Given the description of an element on the screen output the (x, y) to click on. 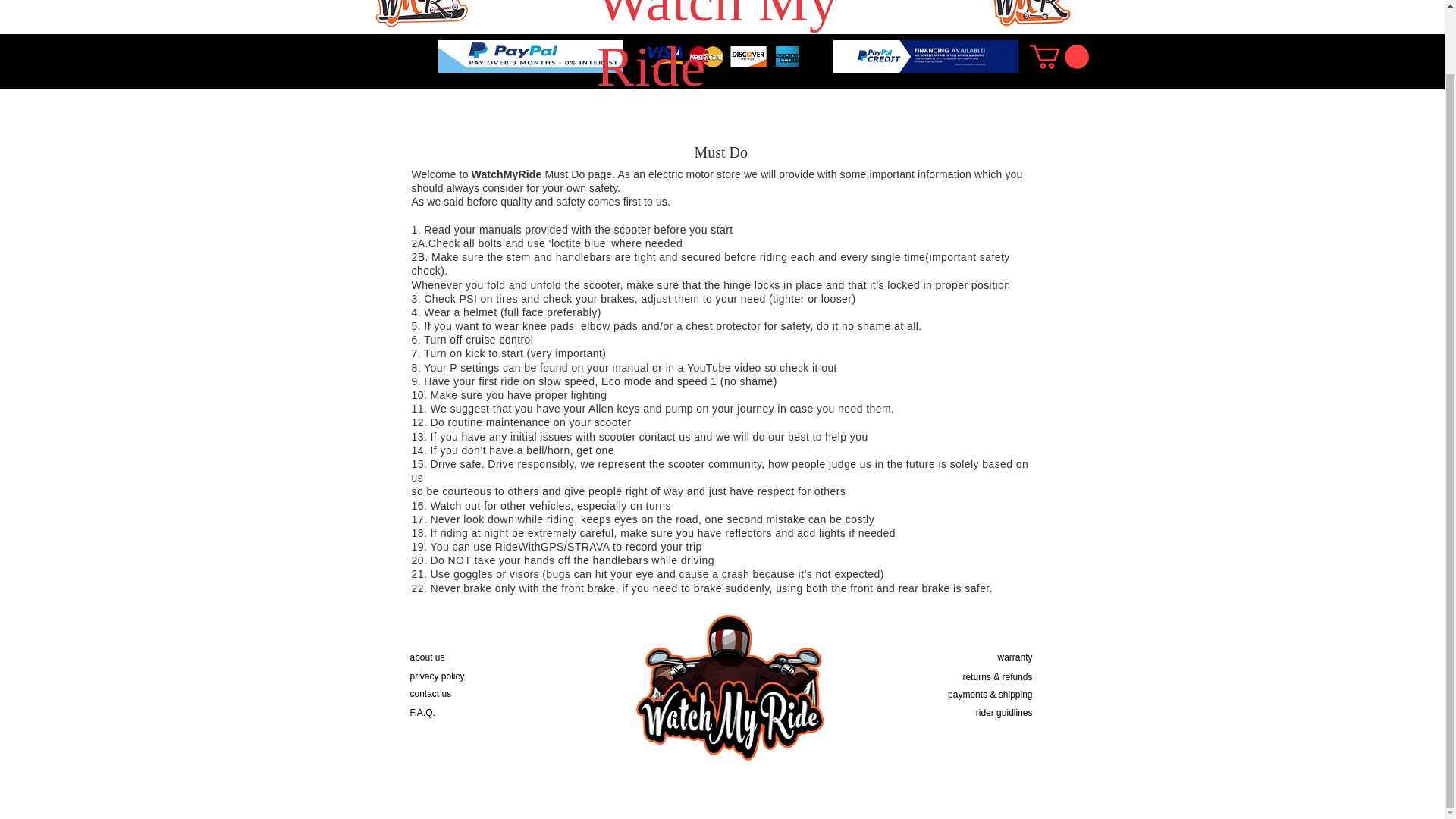
Must Do (721, 152)
contact us (430, 693)
privacy policy (436, 675)
about us (426, 656)
Watch My Ride (716, 48)
